Given the description of an element on the screen output the (x, y) to click on. 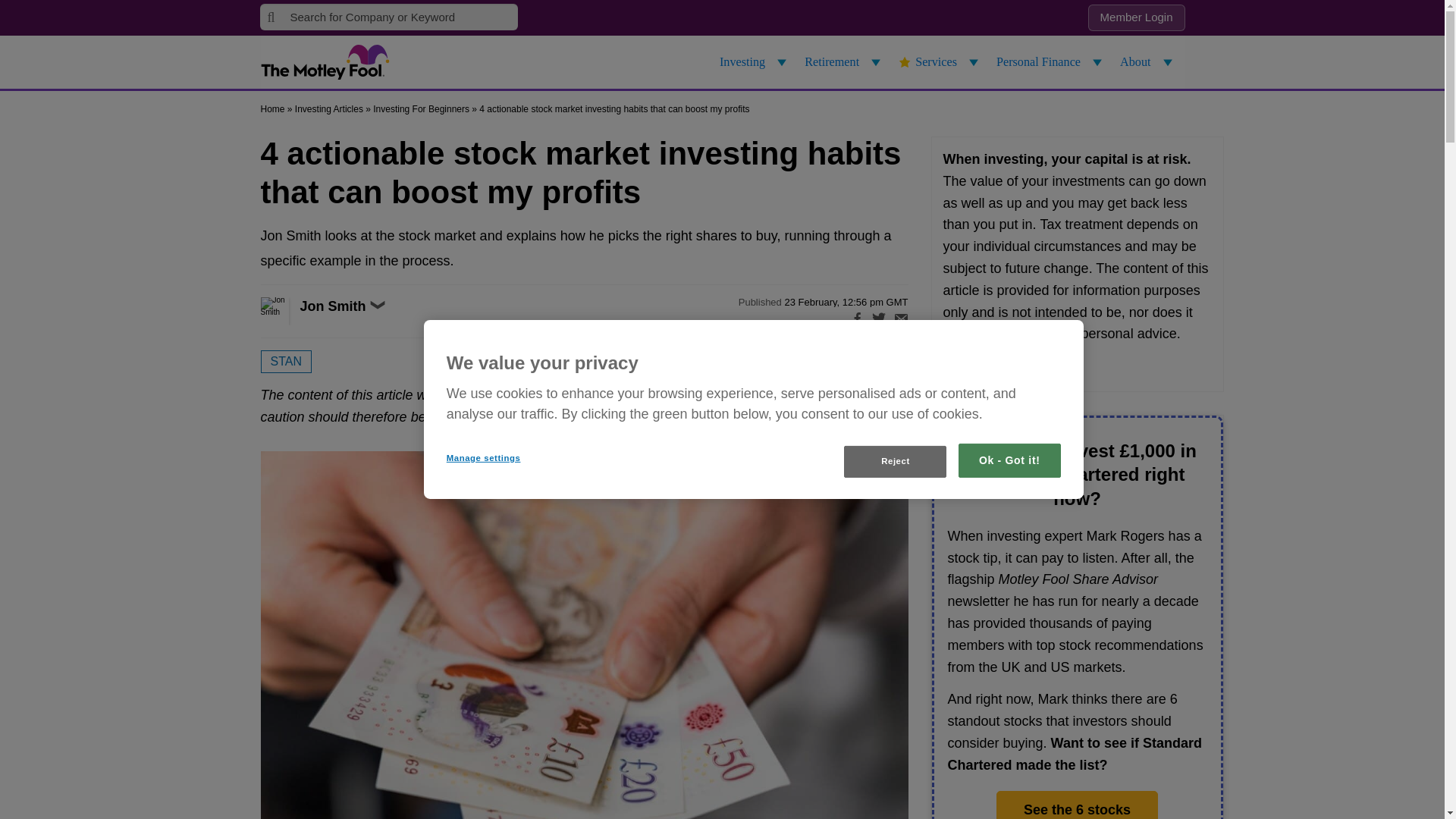
Services (941, 62)
Jon Smith (290, 311)
Member Login (1136, 17)
Retirement (844, 62)
Investing (755, 62)
See more articles about STAN (285, 361)
